Given the description of an element on the screen output the (x, y) to click on. 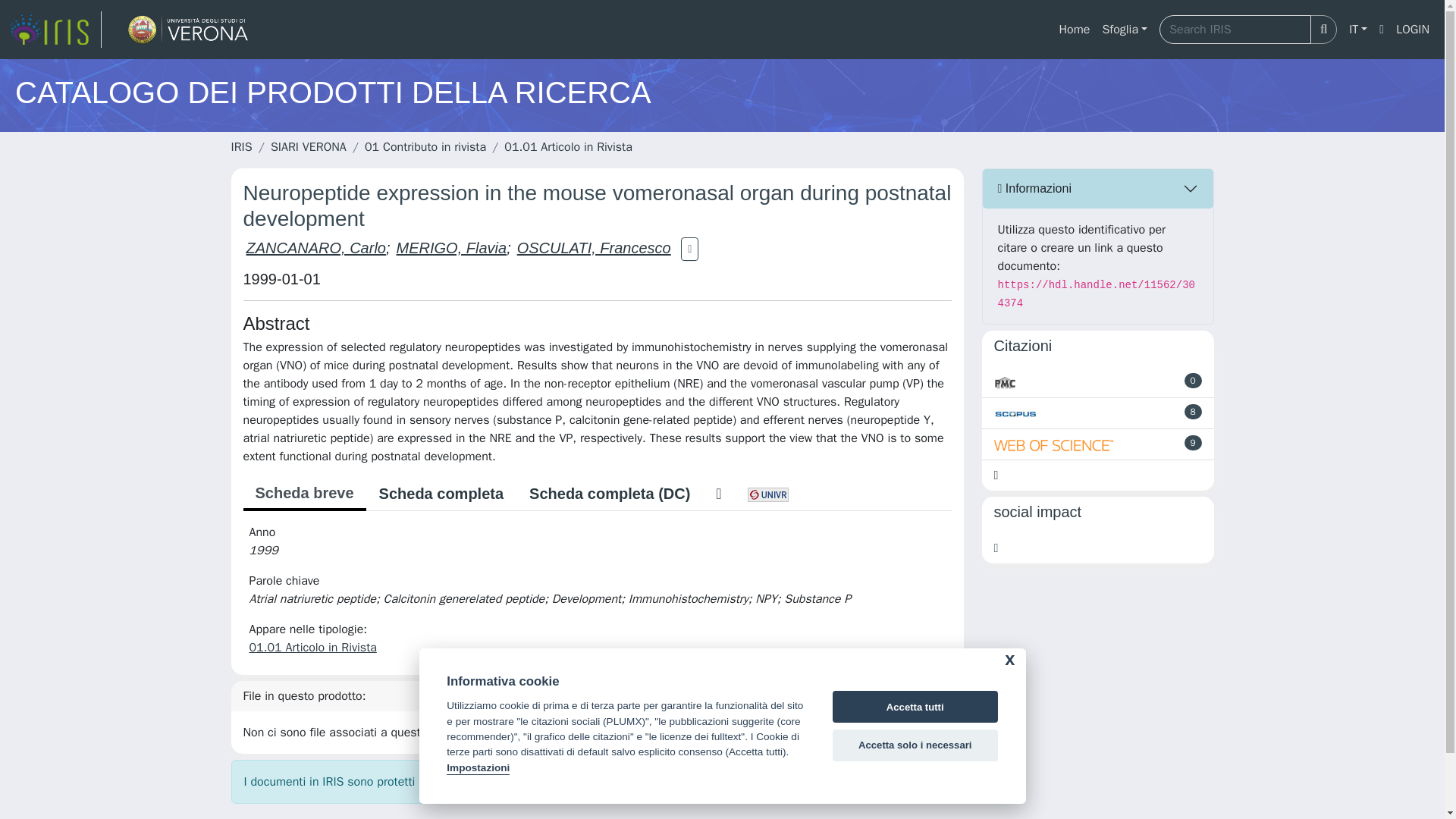
LOGIN (1412, 29)
01 Contributo in rivista (425, 146)
IRIS (240, 146)
MERIGO, Flavia (451, 247)
01.01 Articolo in Rivista (311, 647)
 Informazioni (1097, 188)
Sfoglia (1124, 29)
ZANCANARO, Carlo (315, 247)
01.01 Articolo in Rivista (567, 146)
aggiornato in data 21-12-2023 20:37 (1193, 380)
